Given the description of an element on the screen output the (x, y) to click on. 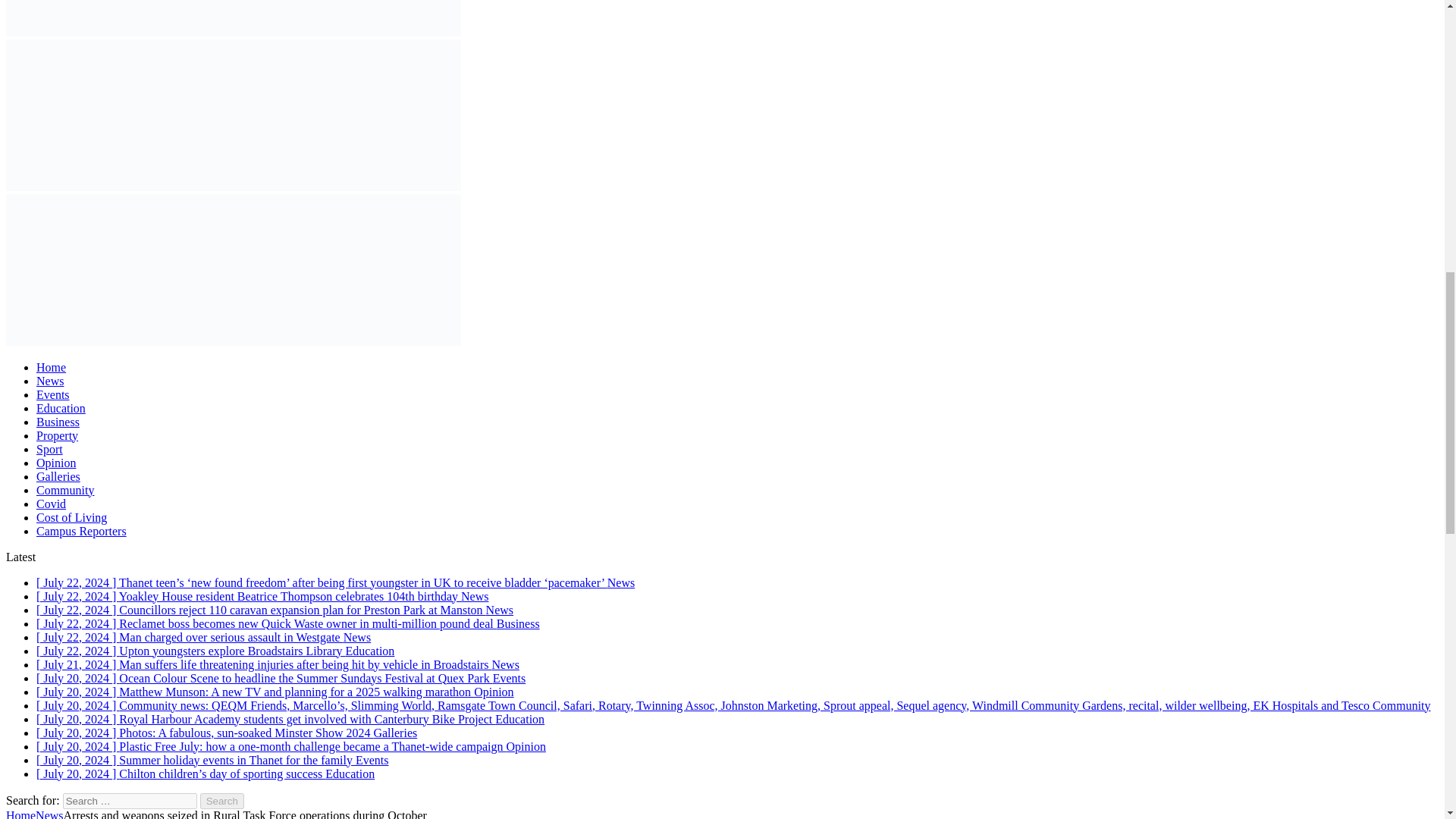
Covid (50, 503)
Search (222, 801)
Business (58, 421)
Opinion (55, 462)
Man charged over serious assault in Westgate (203, 636)
Upton youngsters explore Broadstairs Library (215, 650)
Search (222, 801)
Sport (49, 449)
Events (52, 394)
Cost of Living (71, 517)
Campus Reporters (81, 530)
